Given the description of an element on the screen output the (x, y) to click on. 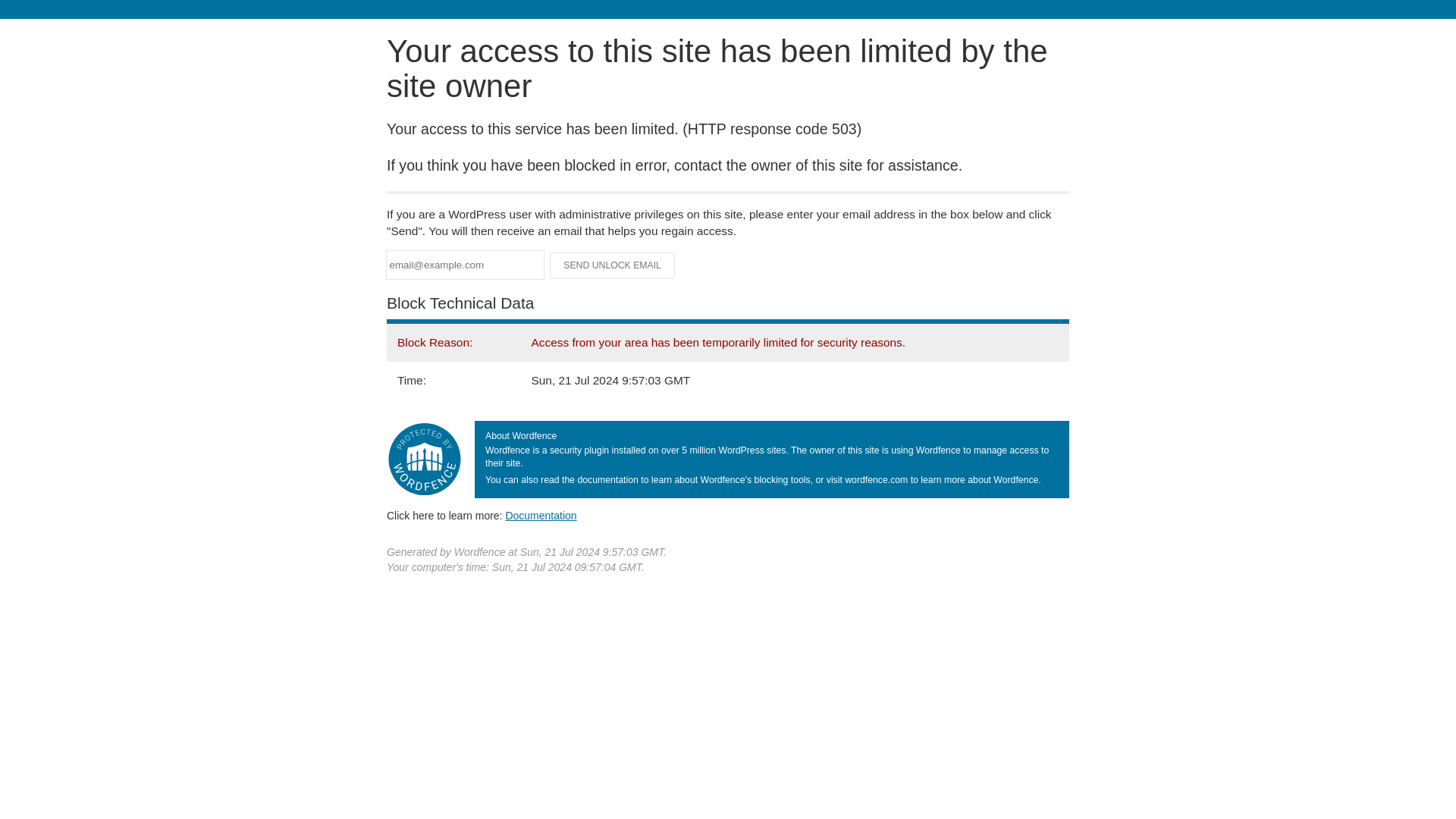
Send Unlock Email (612, 265)
Documentation (540, 515)
Send Unlock Email (612, 265)
